Given the description of an element on the screen output the (x, y) to click on. 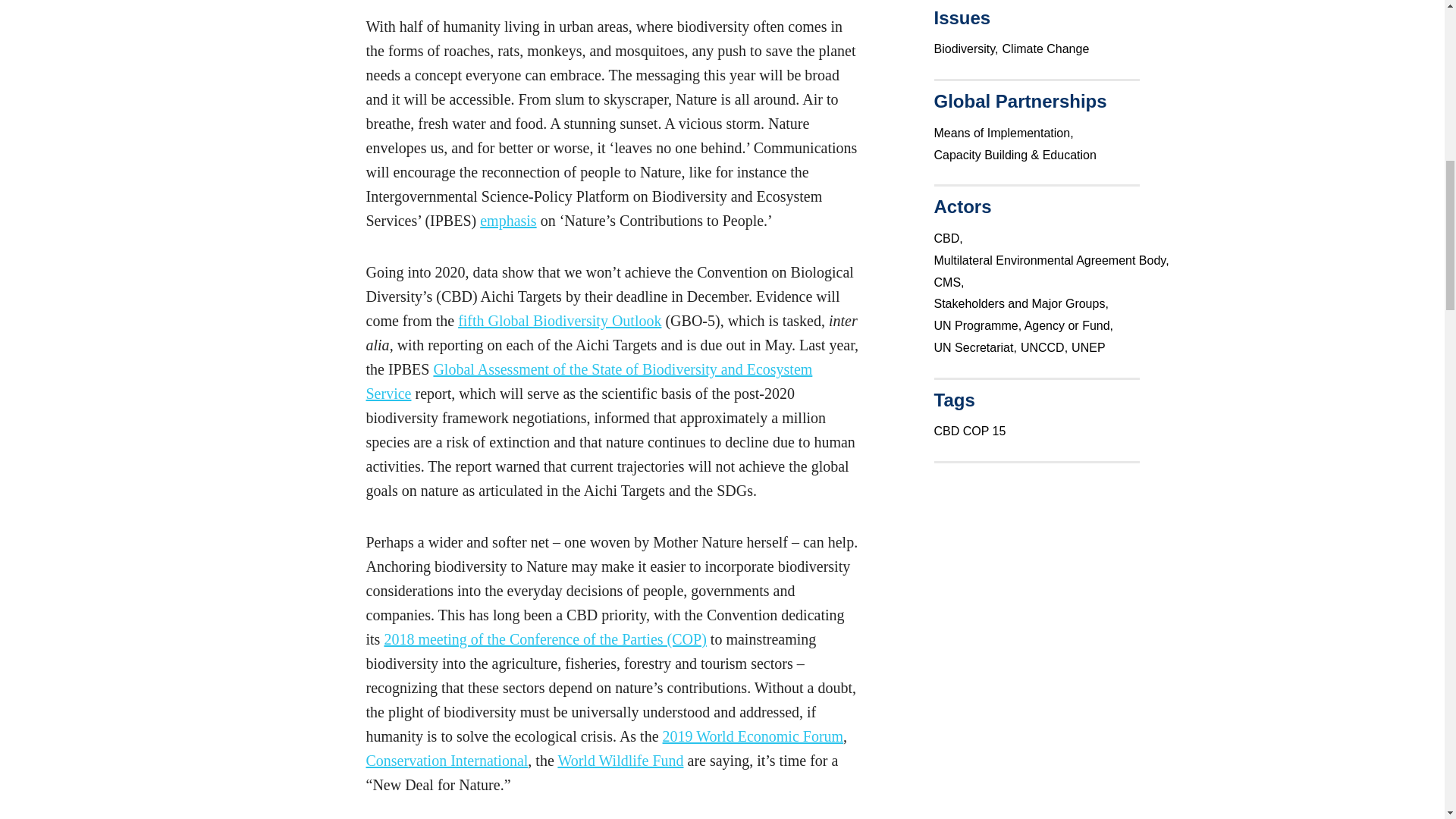
2019 World Economic Forum (753, 736)
fifth Global Biodiversity Outlook (559, 320)
Conservation International (446, 760)
World Wildlife Fund (619, 760)
emphasis (507, 220)
